Given the description of an element on the screen output the (x, y) to click on. 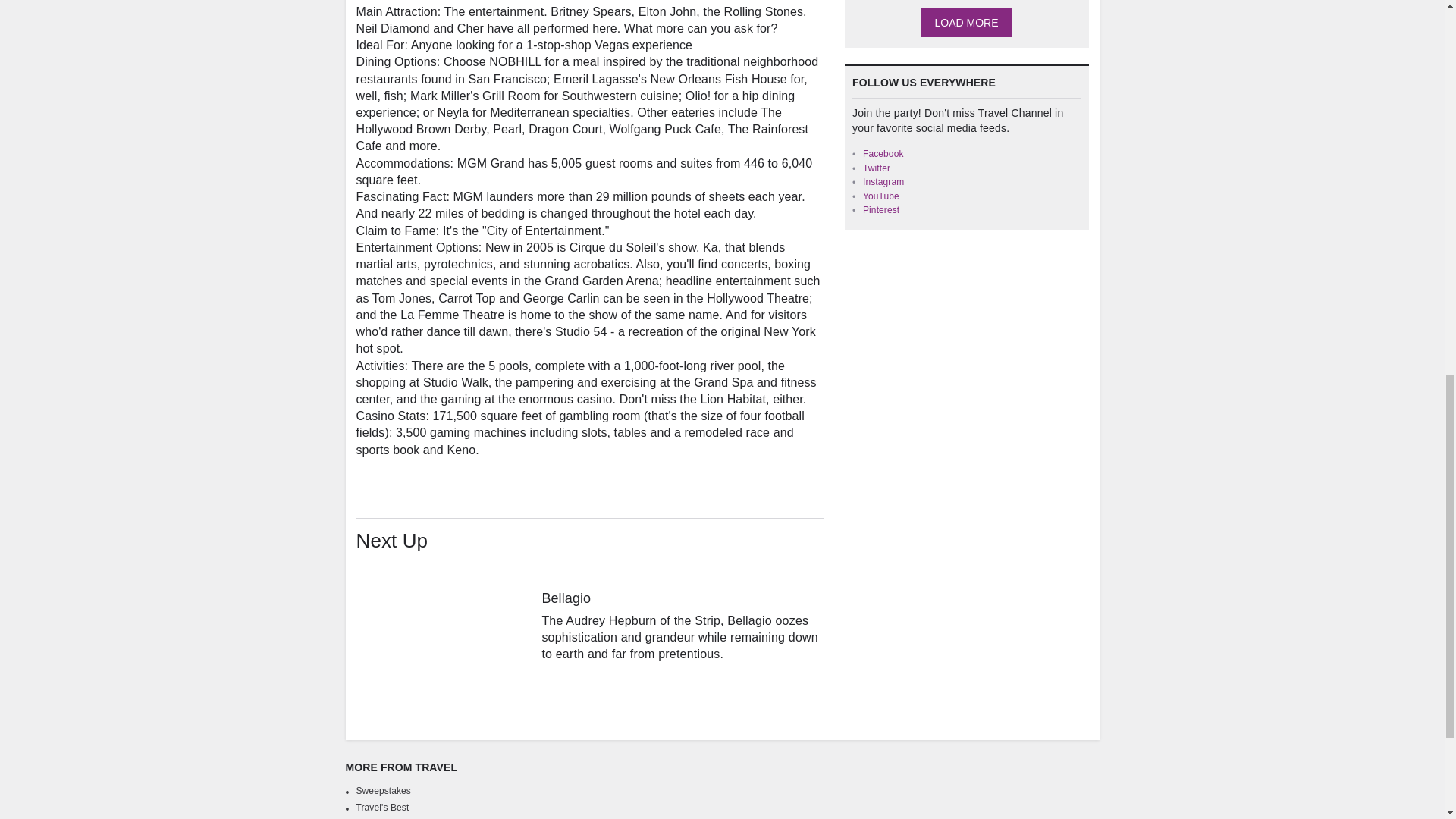
Bellagio (443, 629)
Sweepstakes (383, 790)
Travel's Best (382, 807)
